Given the description of an element on the screen output the (x, y) to click on. 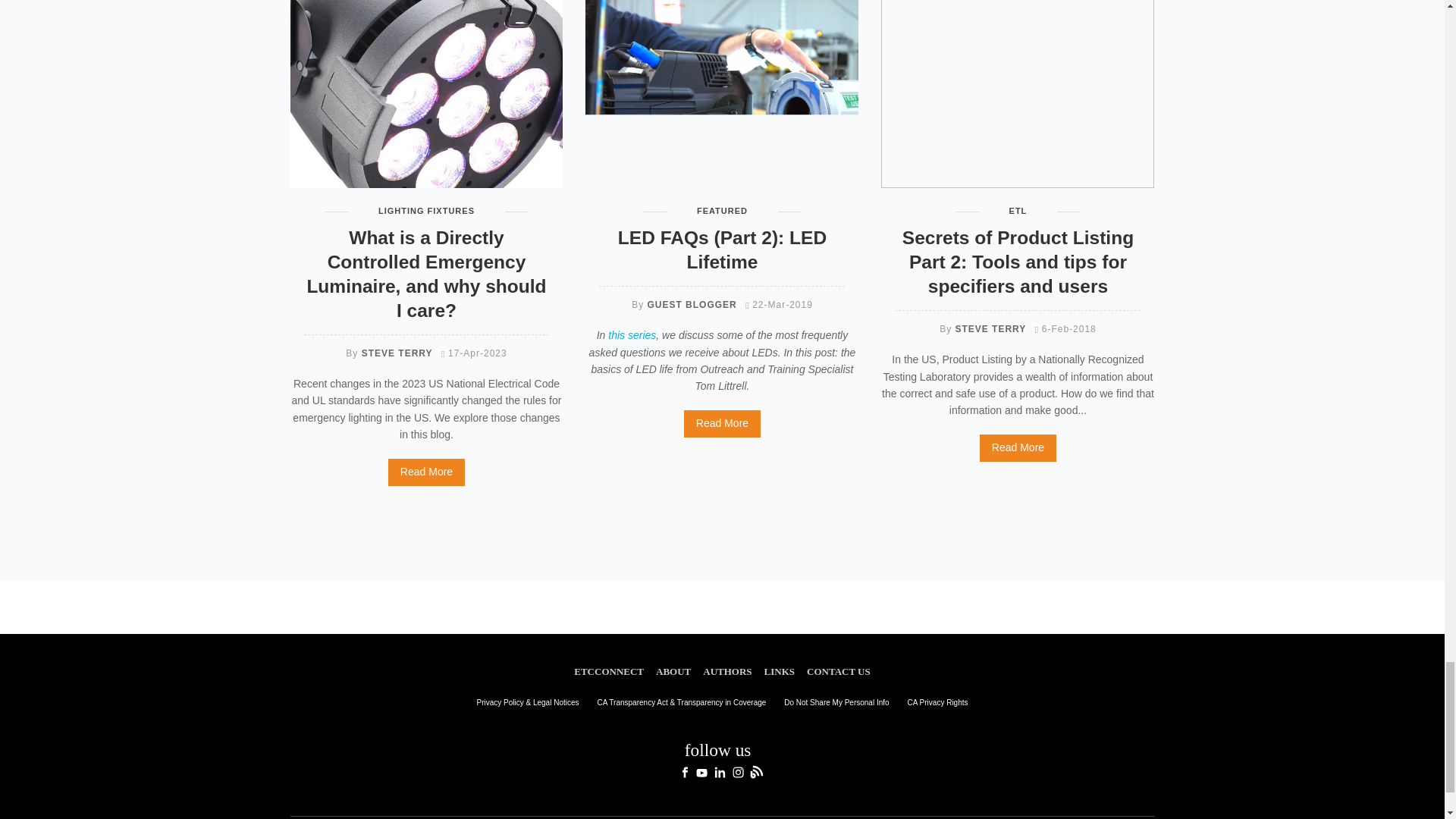
ETC social networks (721, 758)
CA Privacy Rights (937, 702)
17-Apr-2023 (473, 353)
6-Feb-2018 (1065, 328)
Do Not Share My Personal Info (836, 702)
22-Mar-2019 (778, 304)
ETC social networks (721, 757)
